Given the description of an element on the screen output the (x, y) to click on. 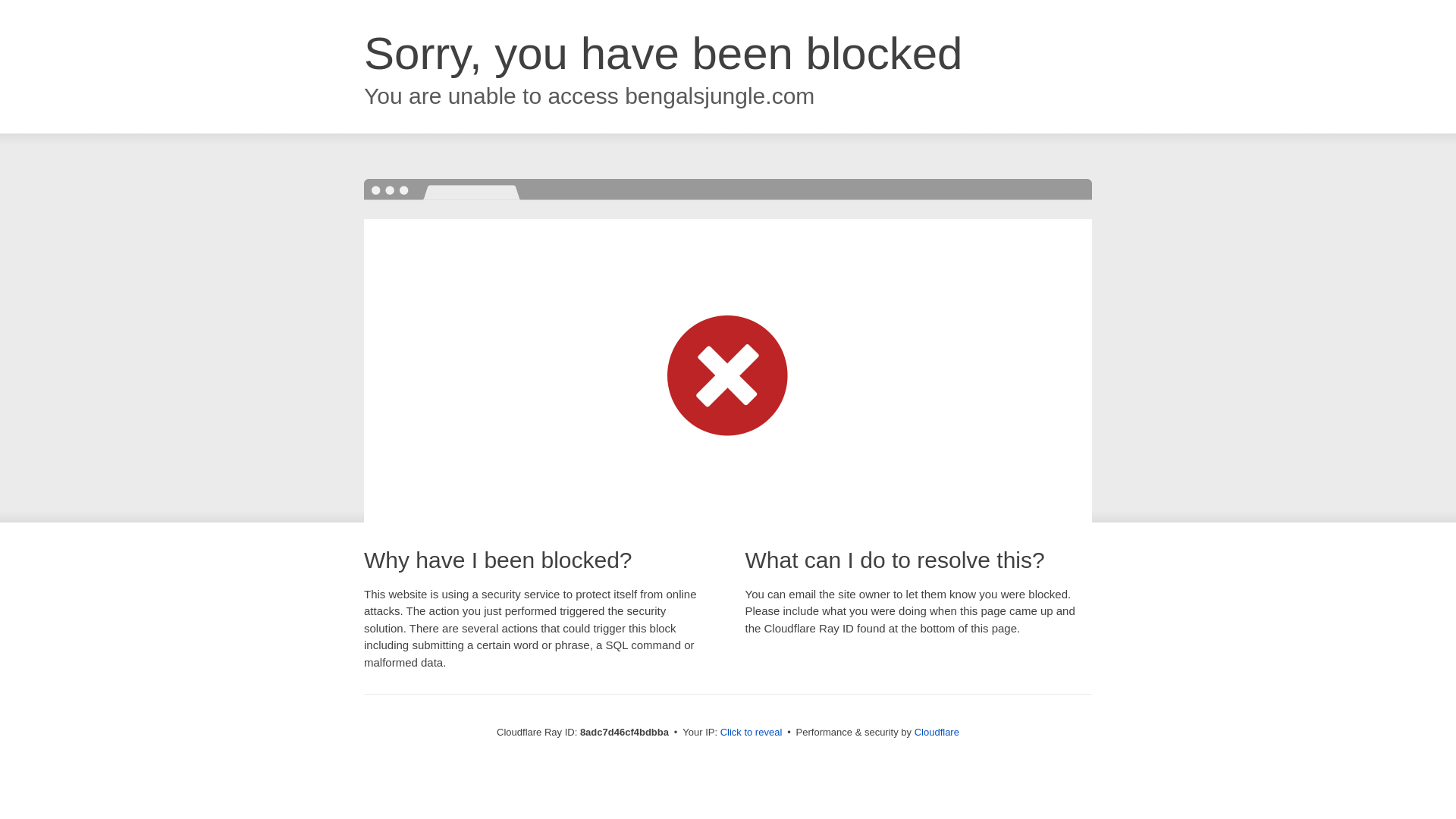
Cloudflare (936, 731)
Click to reveal (751, 732)
